Given the description of an element on the screen output the (x, y) to click on. 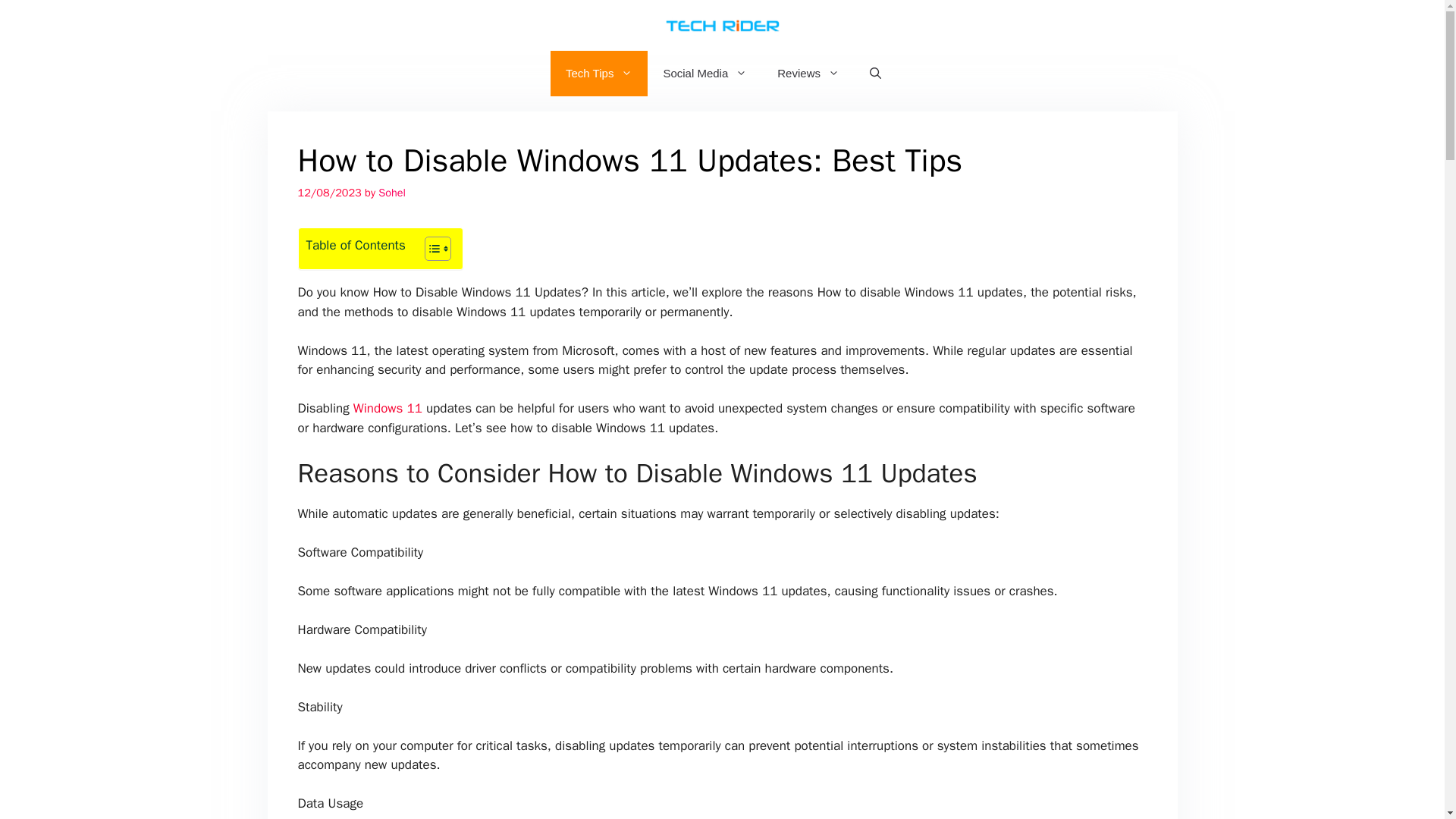
Tech Tips (598, 73)
Reviews (807, 73)
Social Media (704, 73)
Windows 11 (387, 408)
Sohel (392, 192)
View all posts by Sohel (392, 192)
